Given the description of an element on the screen output the (x, y) to click on. 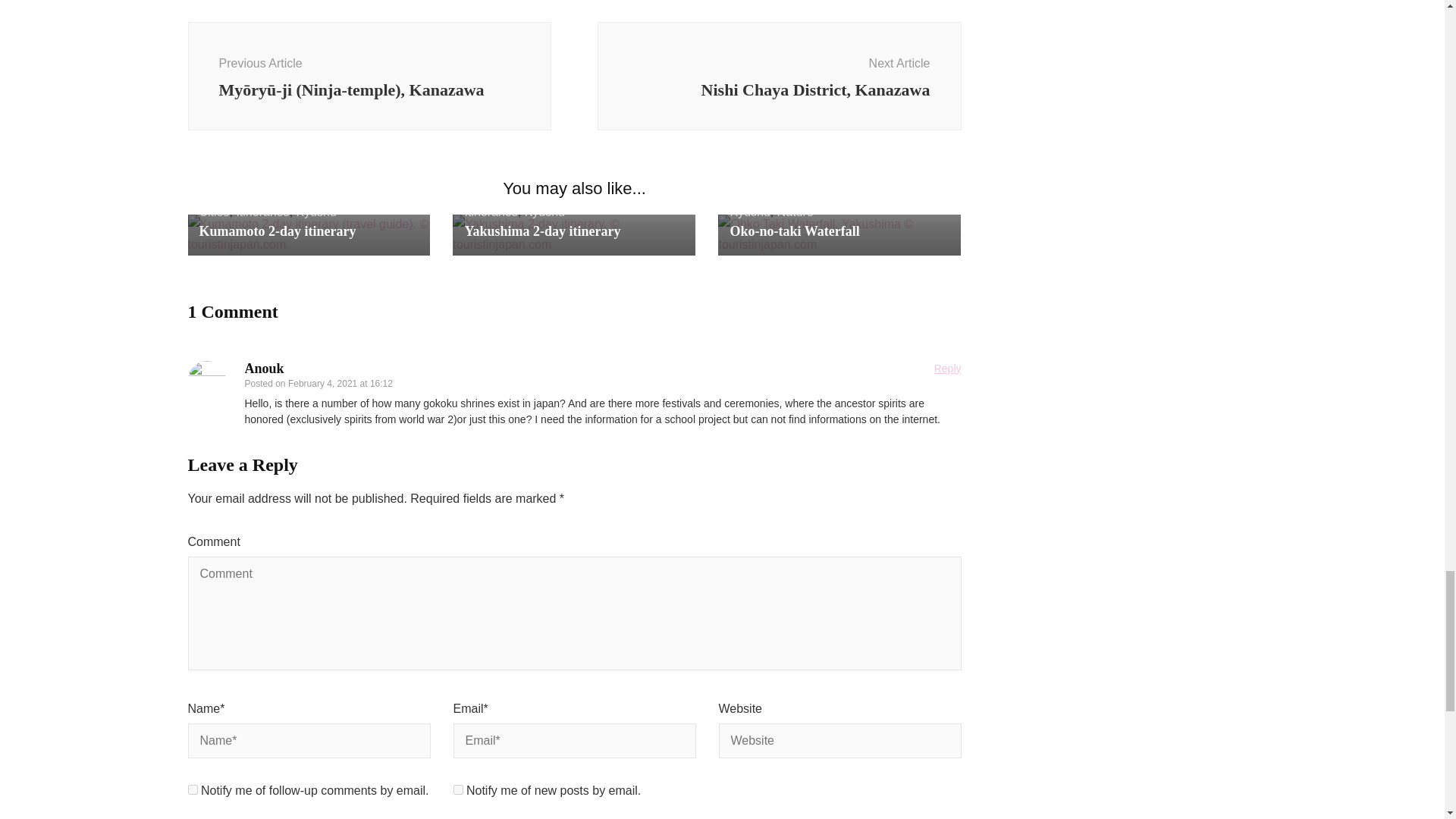
subscribe (457, 789)
subscribe (192, 789)
